Given the description of an element on the screen output the (x, y) to click on. 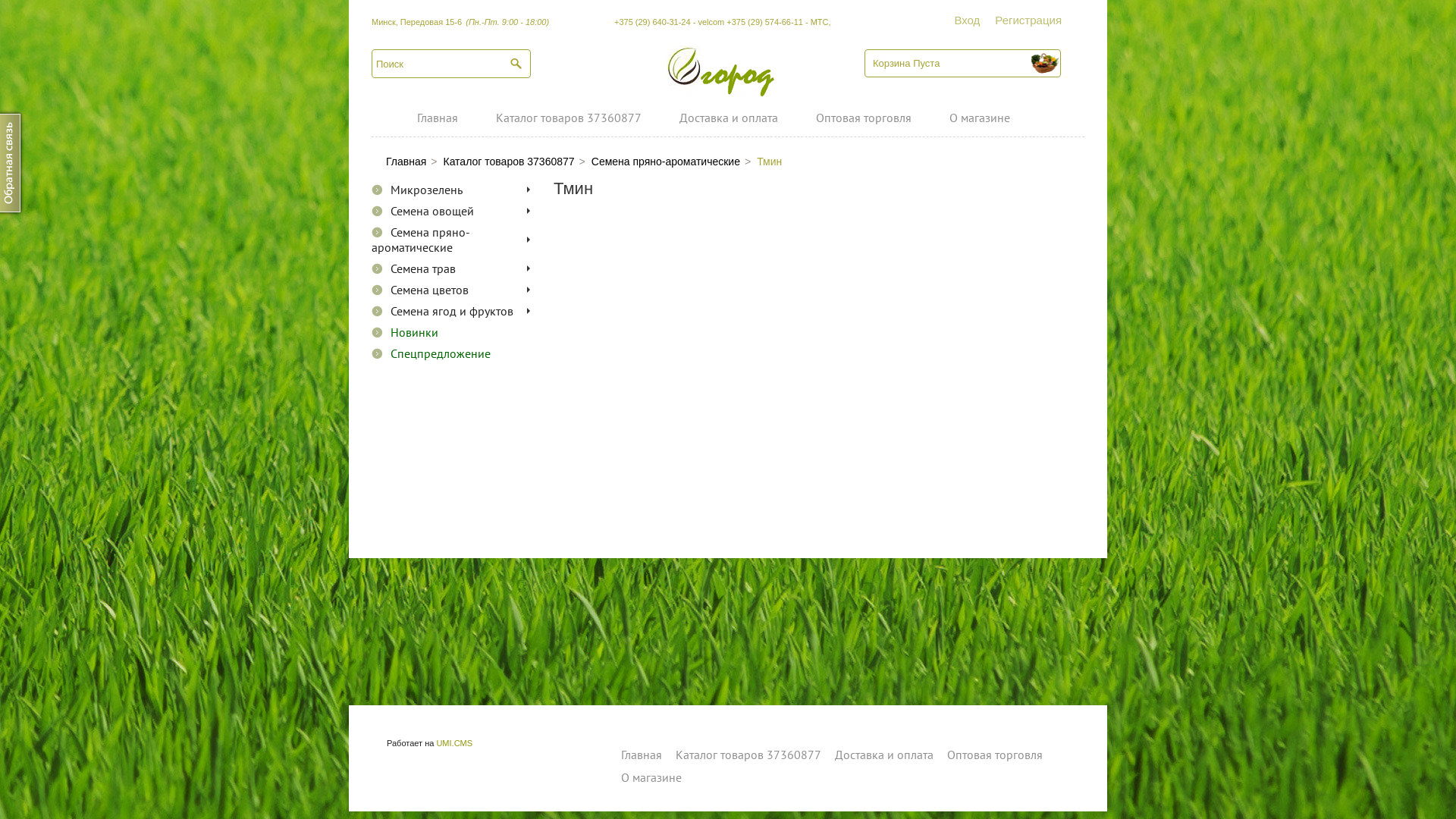
UMI.CMS Element type: text (454, 742)
